Given the description of an element on the screen output the (x, y) to click on. 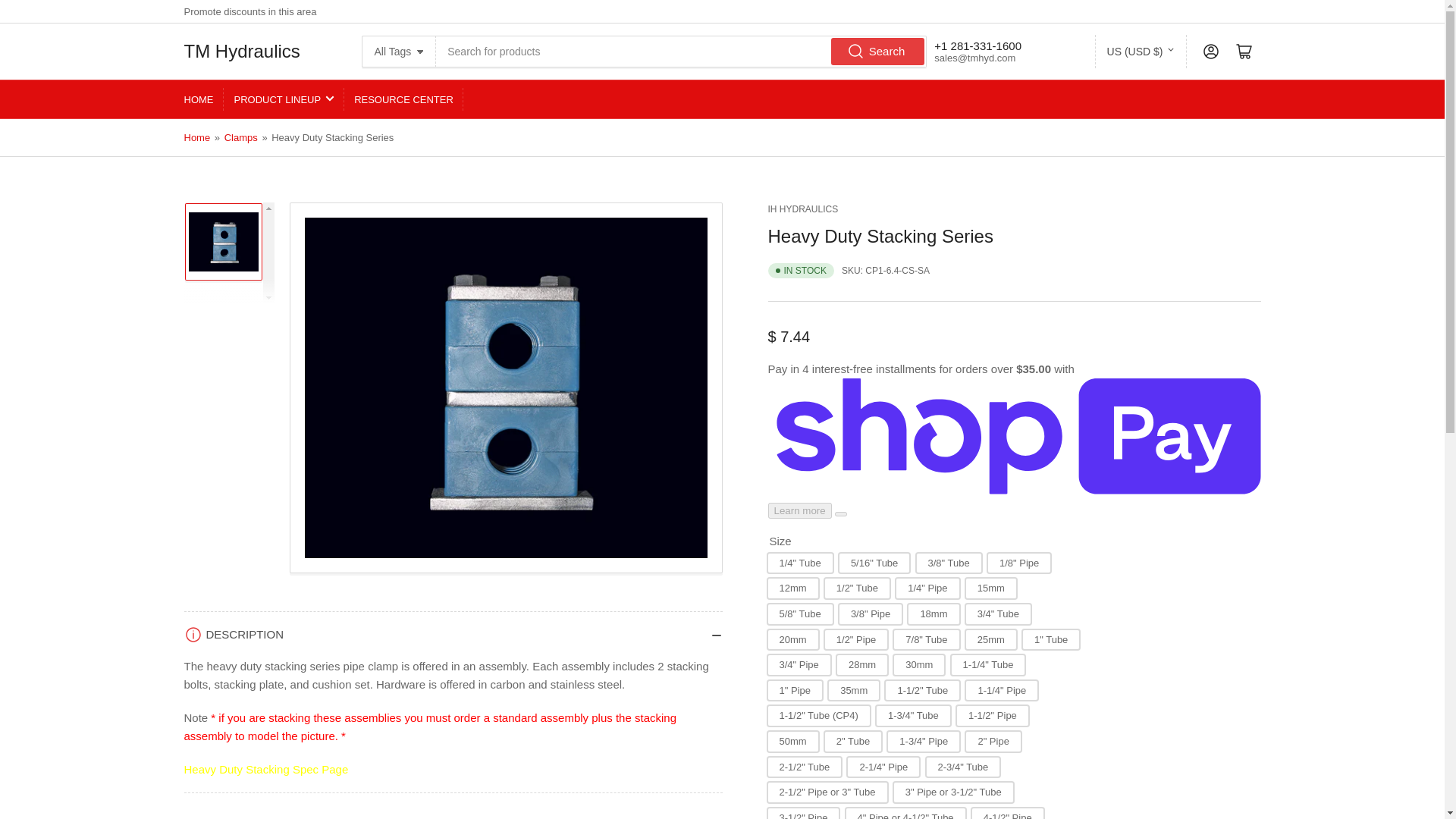
TM Hydraulics (241, 51)
IH Hydraulics (802, 208)
Search (877, 51)
